Given the description of an element on the screen output the (x, y) to click on. 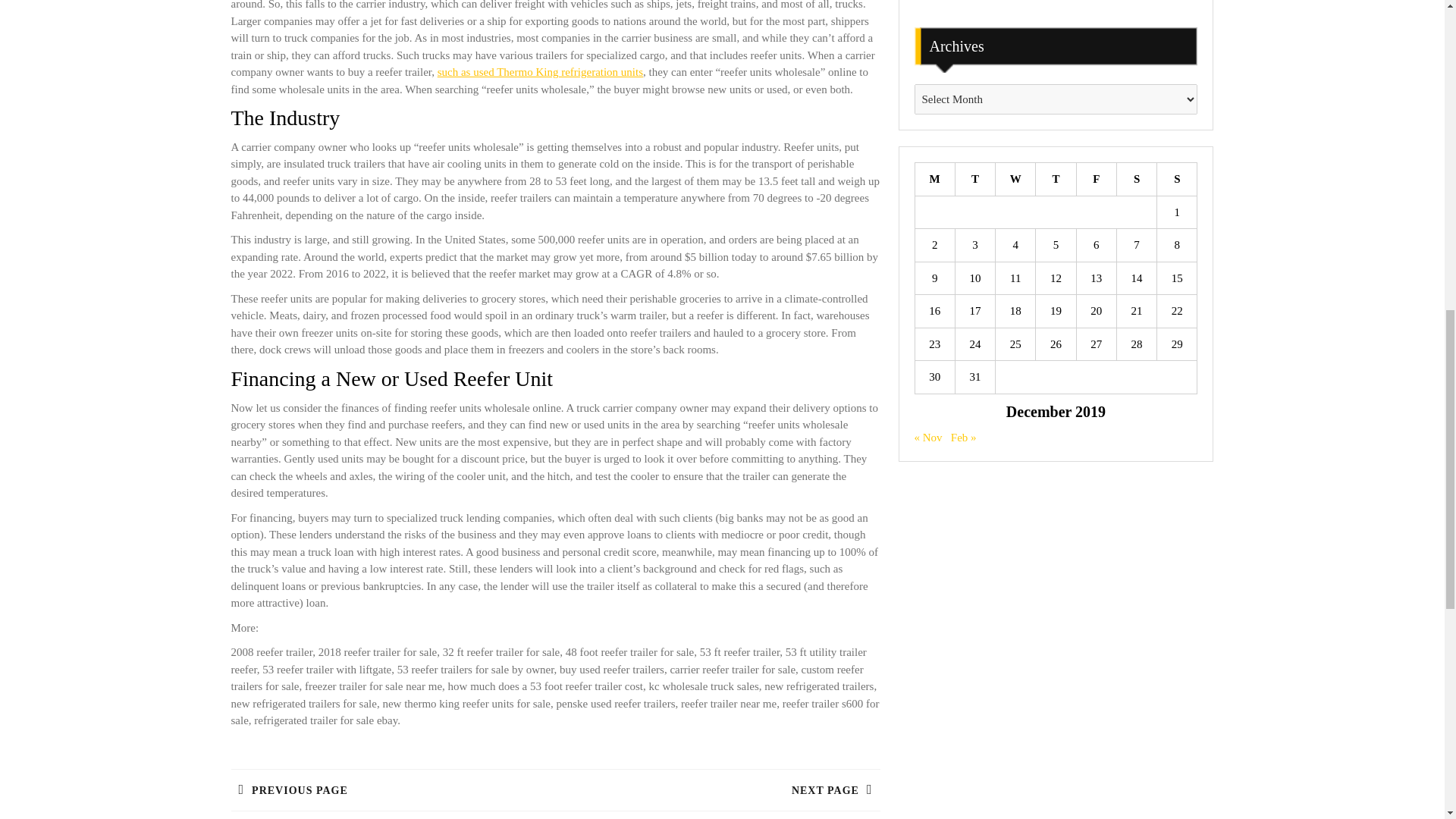
Find more info on Used reefer trailers for sale (540, 71)
Monday (934, 179)
Tuesday (974, 179)
such as used Thermo King refrigeration units (540, 71)
Wednesday (1015, 179)
Friday (716, 780)
Saturday (1095, 179)
Sunday (392, 780)
Thursday (1136, 179)
